Given the description of an element on the screen output the (x, y) to click on. 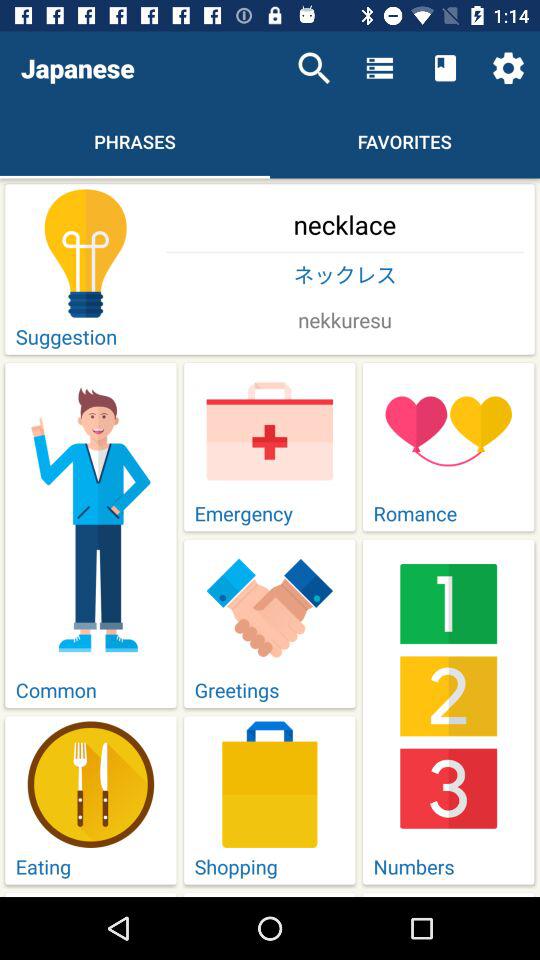
turn on item above the favorites item (444, 67)
